Given the description of an element on the screen output the (x, y) to click on. 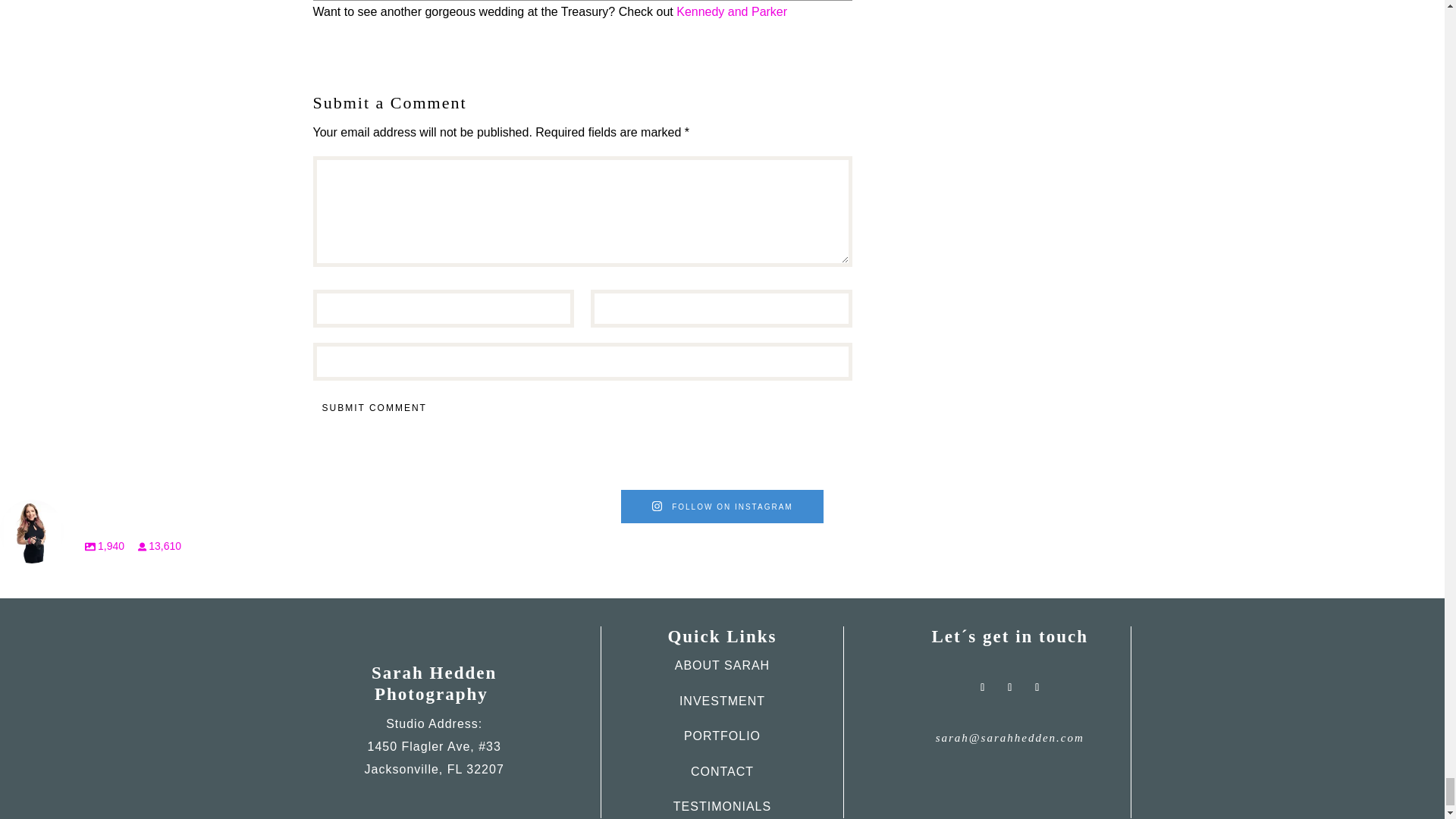
Submit Comment (374, 408)
